Given the description of an element on the screen output the (x, y) to click on. 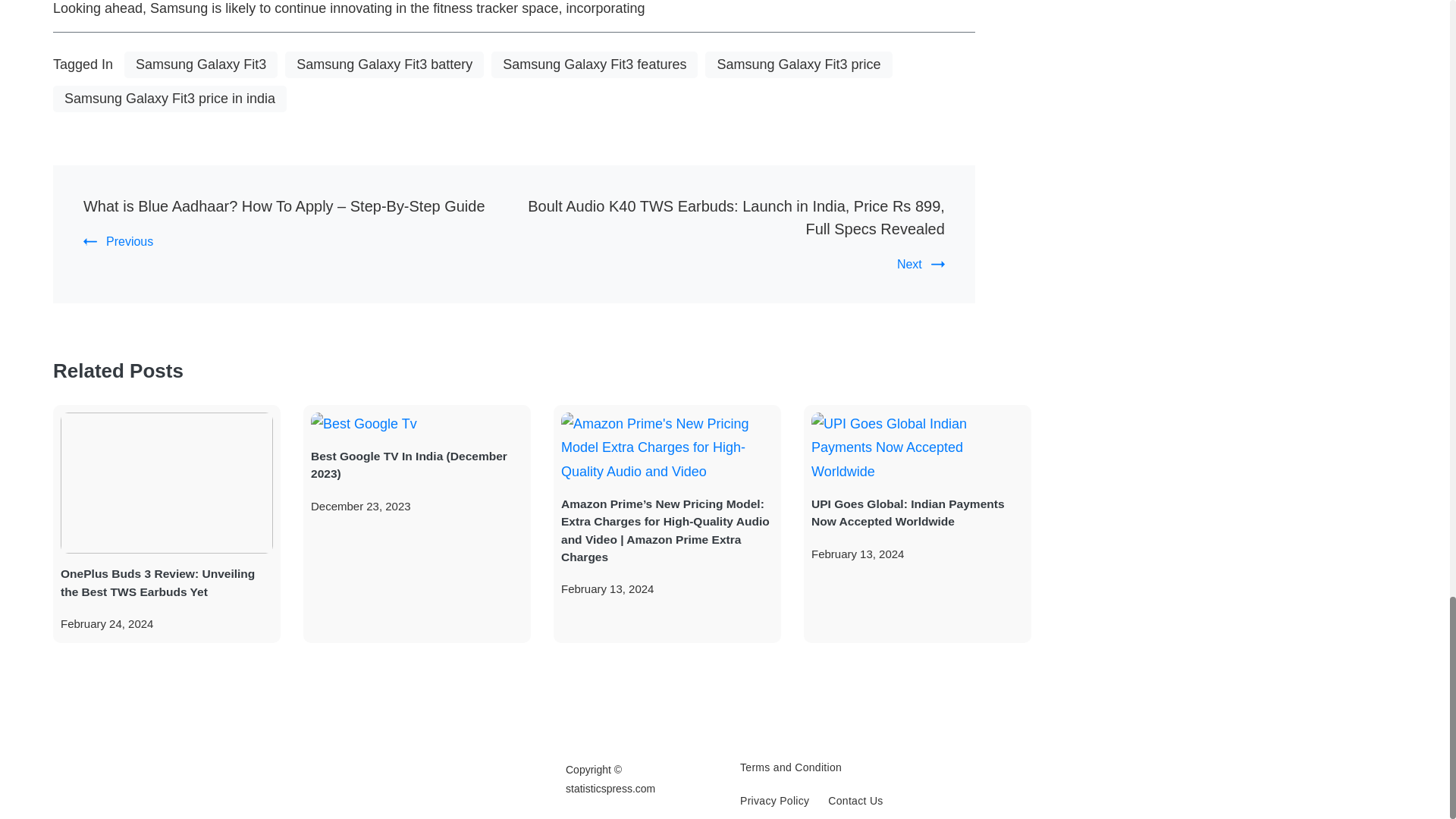
Samsung Galaxy Fit3 battery (384, 64)
Samsung Galaxy Fit3 (200, 64)
Previous (117, 241)
Next (920, 264)
Samsung Galaxy Fit3 features (594, 64)
Samsung Galaxy Fit3 price in india (169, 98)
Samsung Galaxy Fit3 price (797, 64)
